Given the description of an element on the screen output the (x, y) to click on. 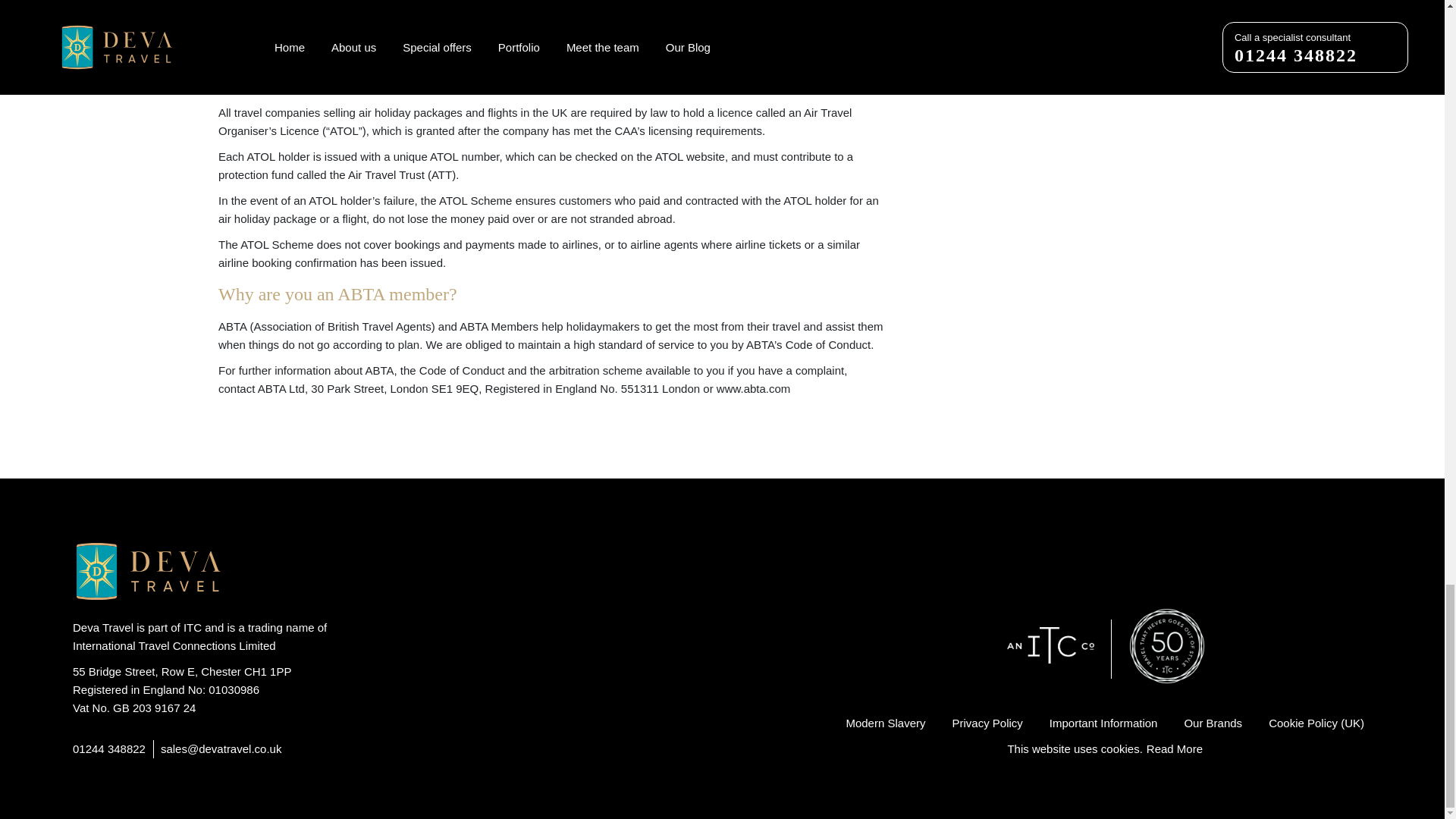
Important Information (1103, 722)
01244 348822 (108, 749)
Privacy Policy (987, 722)
Modern Slavery (884, 722)
Our Brands (1212, 722)
Read More (1174, 749)
ITC Travel Group (1059, 648)
